Given the description of an element on the screen output the (x, y) to click on. 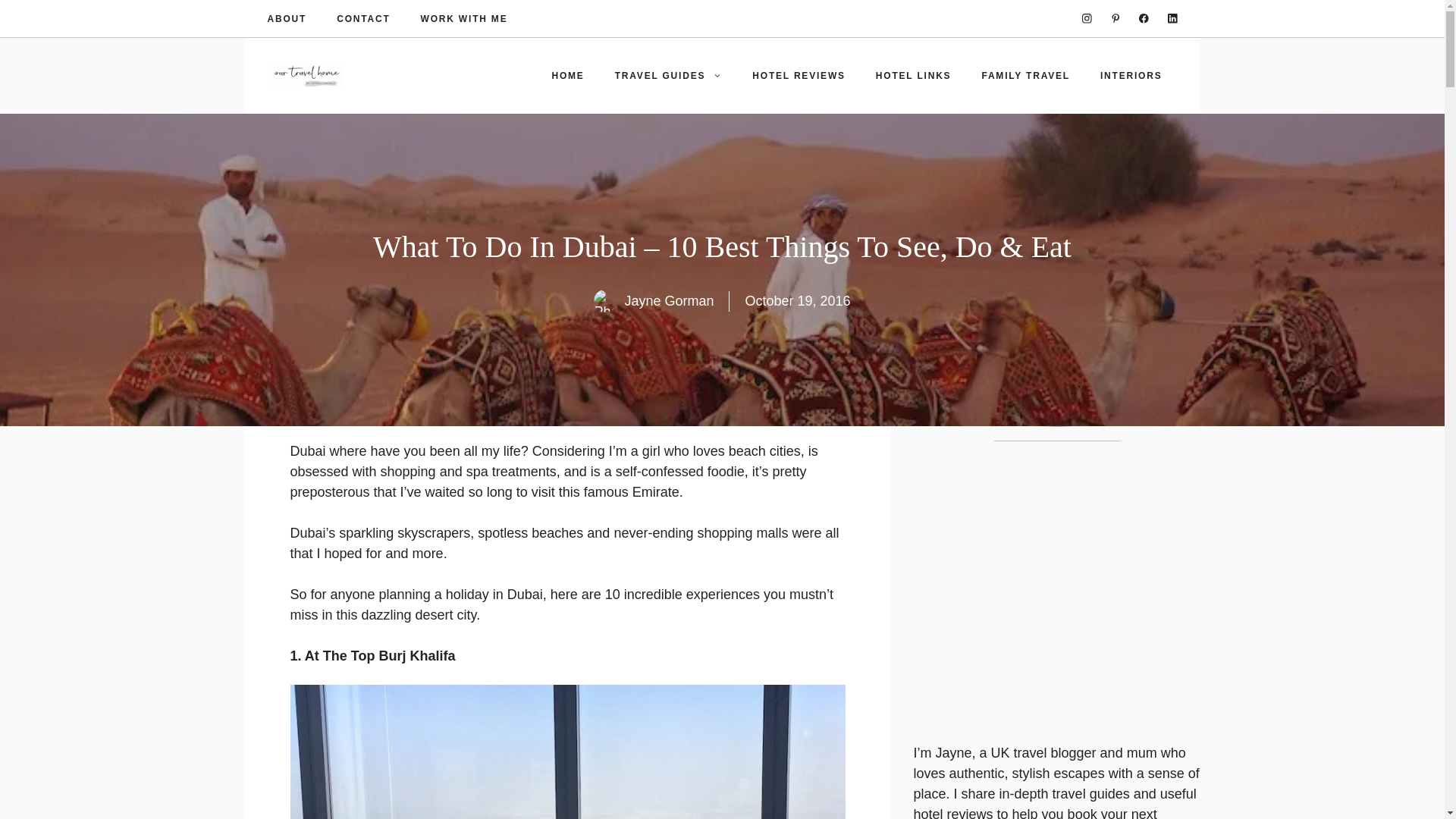
HOTEL LINKS (913, 75)
ABOUT (285, 18)
HOTEL REVIEWS (798, 75)
CONTACT (363, 18)
TRAVEL GUIDES (668, 75)
HOME (566, 75)
WORK WITH ME (464, 18)
FAMILY TRAVEL (1025, 75)
INTERIORS (1130, 75)
